Given the description of an element on the screen output the (x, y) to click on. 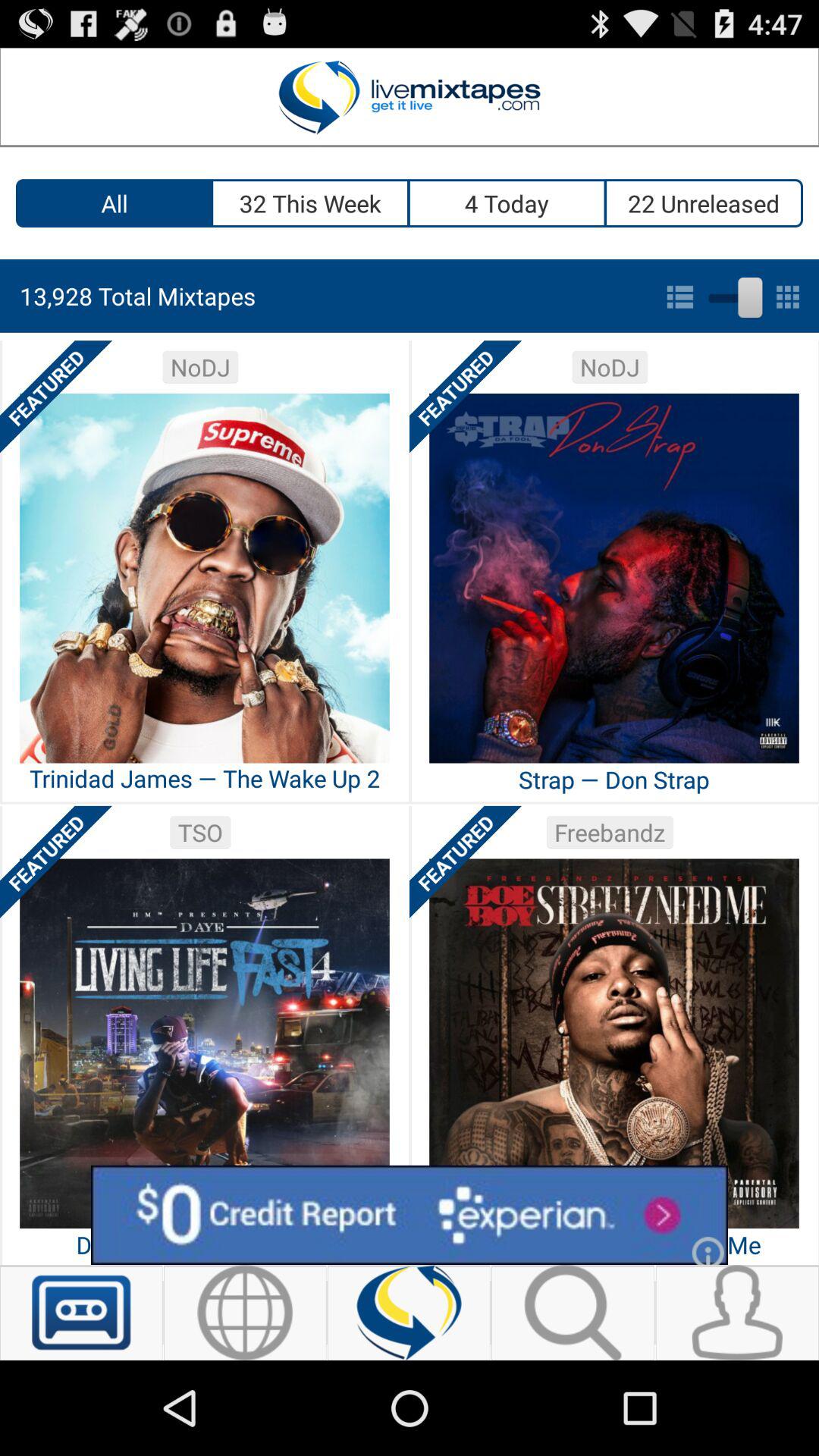
select the icon below featured item (409, 1214)
